Given the description of an element on the screen output the (x, y) to click on. 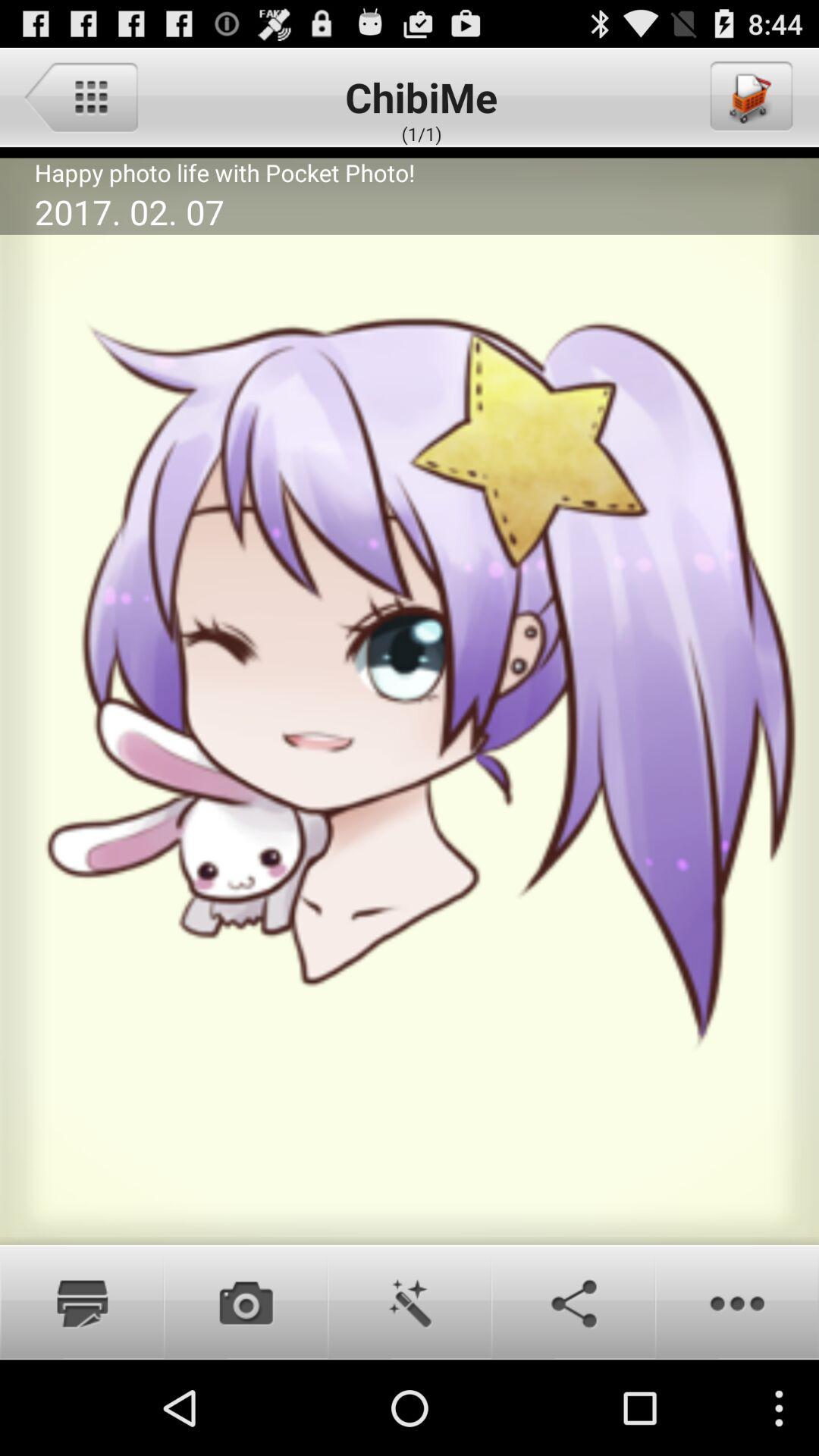
turn on the item at the top right corner (749, 96)
